Given the description of an element on the screen output the (x, y) to click on. 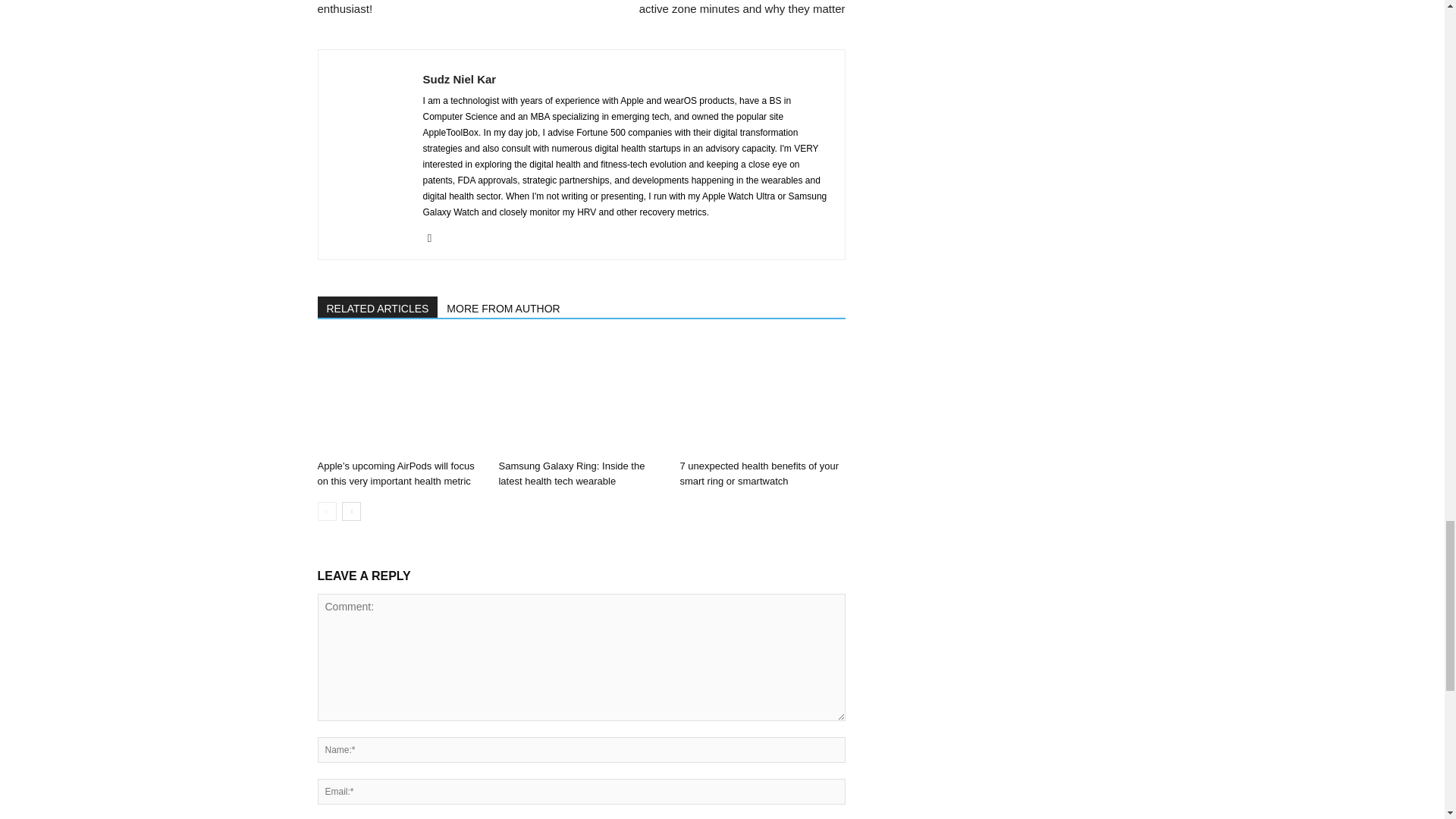
Linkedin (435, 238)
Samsung Galaxy Ring: Inside the latest health tech wearable (571, 473)
Samsung Galaxy Ring: Inside the latest health tech wearable (580, 396)
